Given the description of an element on the screen output the (x, y) to click on. 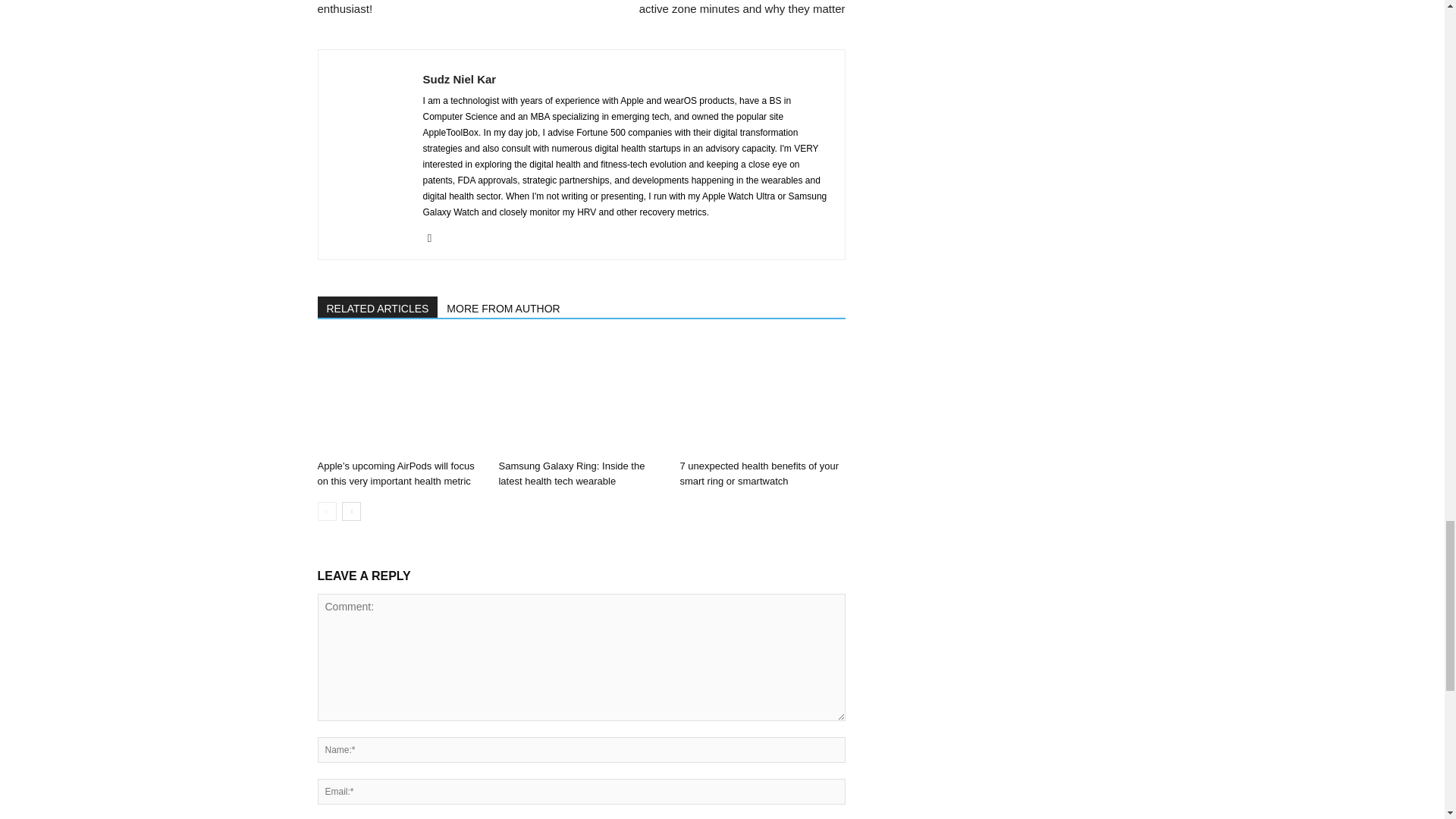
Linkedin (435, 238)
Samsung Galaxy Ring: Inside the latest health tech wearable (571, 473)
Samsung Galaxy Ring: Inside the latest health tech wearable (580, 396)
